Given the description of an element on the screen output the (x, y) to click on. 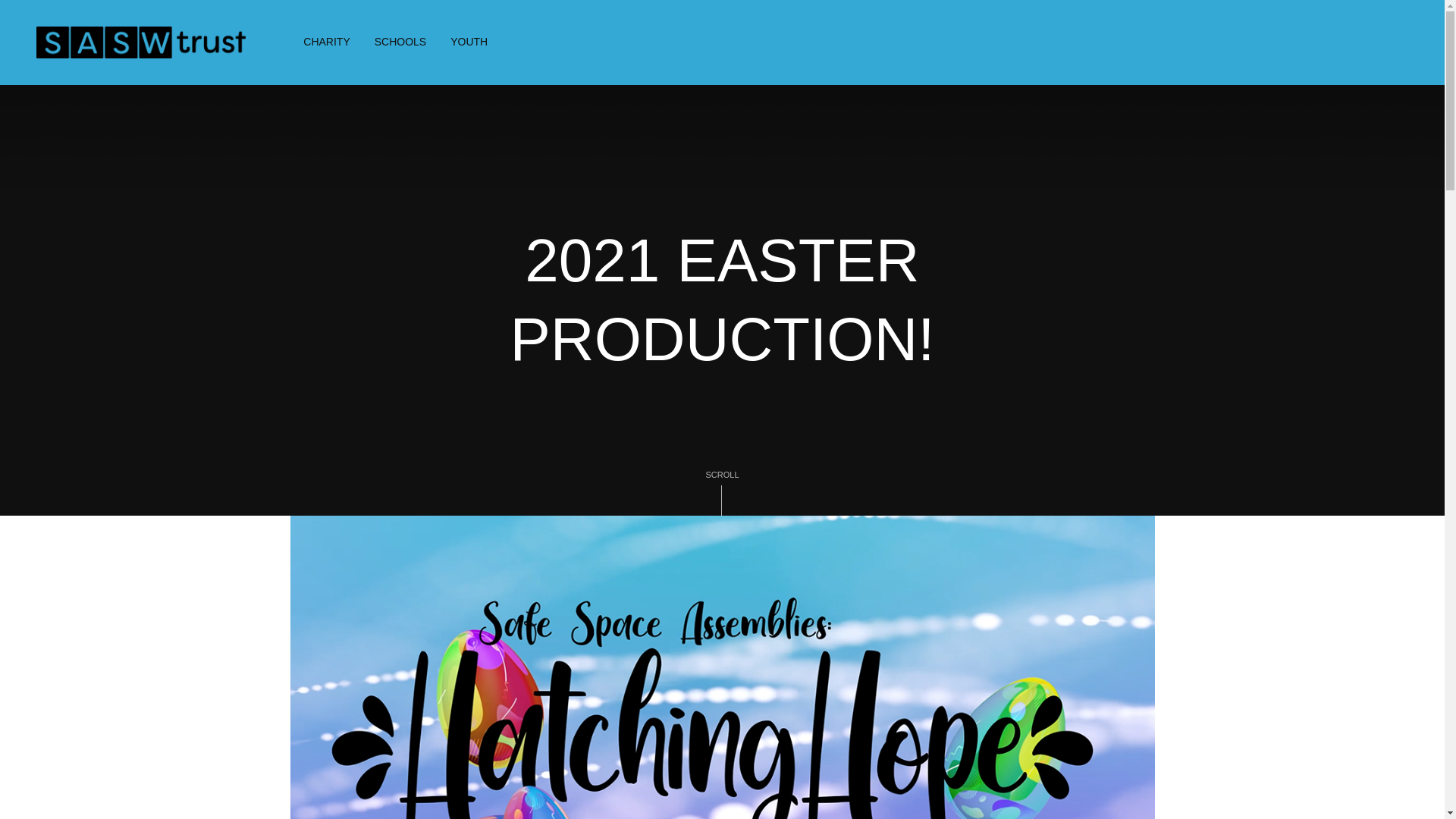
SCROLL (722, 490)
